Given the description of an element on the screen output the (x, y) to click on. 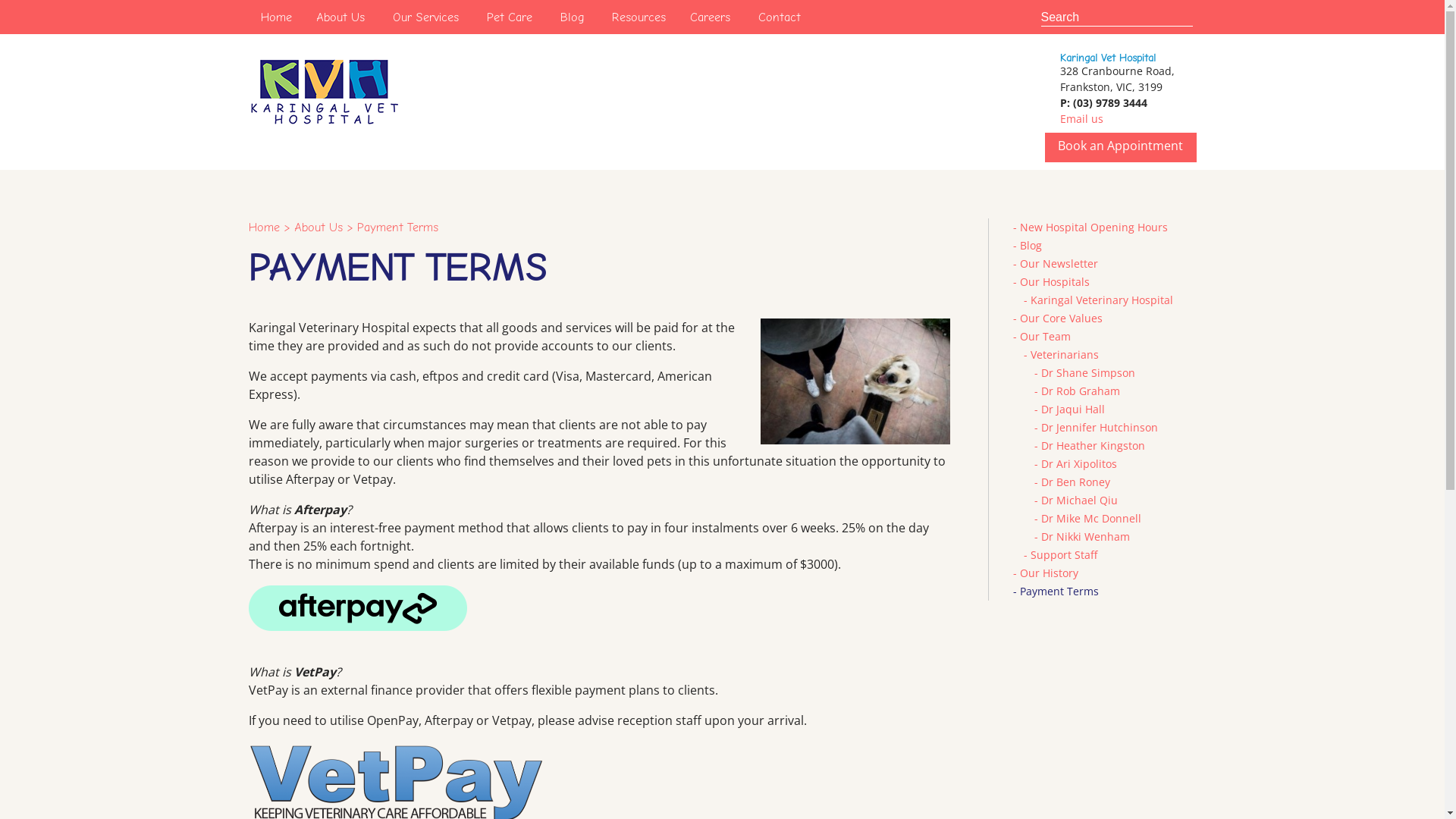
Blog Element type: text (571, 17)
Resources Element type: text (638, 17)
Book an Appointment Element type: text (1120, 145)
Support Staff Element type: text (1062, 554)
Careers Element type: text (709, 17)
Dr Ari Xipolitos Element type: text (1078, 463)
Dr Michael Qiu Element type: text (1078, 499)
Home Element type: text (276, 17)
About Us Element type: text (339, 17)
Veterinarians Element type: text (1063, 354)
Our Services Element type: text (425, 17)
Dr Jaqui Hall Element type: text (1072, 408)
Dr Rob Graham Element type: text (1079, 390)
Dr Shane Simpson Element type: text (1087, 372)
Dr Jennifer Hutchinson Element type: text (1098, 427)
Our Core Values Element type: text (1060, 317)
Contact Element type: text (779, 17)
Our Team Element type: text (1044, 336)
Home Element type: text (263, 226)
Pet Care Element type: text (509, 17)
New Hospital Opening Hours Element type: text (1093, 226)
Payment Terms Element type: text (1058, 590)
Our History Element type: text (1048, 572)
Blog Element type: text (1030, 245)
Our Hospitals Element type: text (1053, 281)
Email us Element type: text (1081, 118)
Karingal Veterinary Hospital Element type: text (1100, 299)
About Us Element type: text (318, 226)
Dr Mike Mc Donnell Element type: text (1090, 518)
Our Newsletter Element type: text (1058, 263)
Dr Nikki Wenham Element type: text (1084, 536)
Dr Ben Roney Element type: text (1074, 481)
Dr Heather Kingston Element type: text (1092, 445)
